Given the description of an element on the screen output the (x, y) to click on. 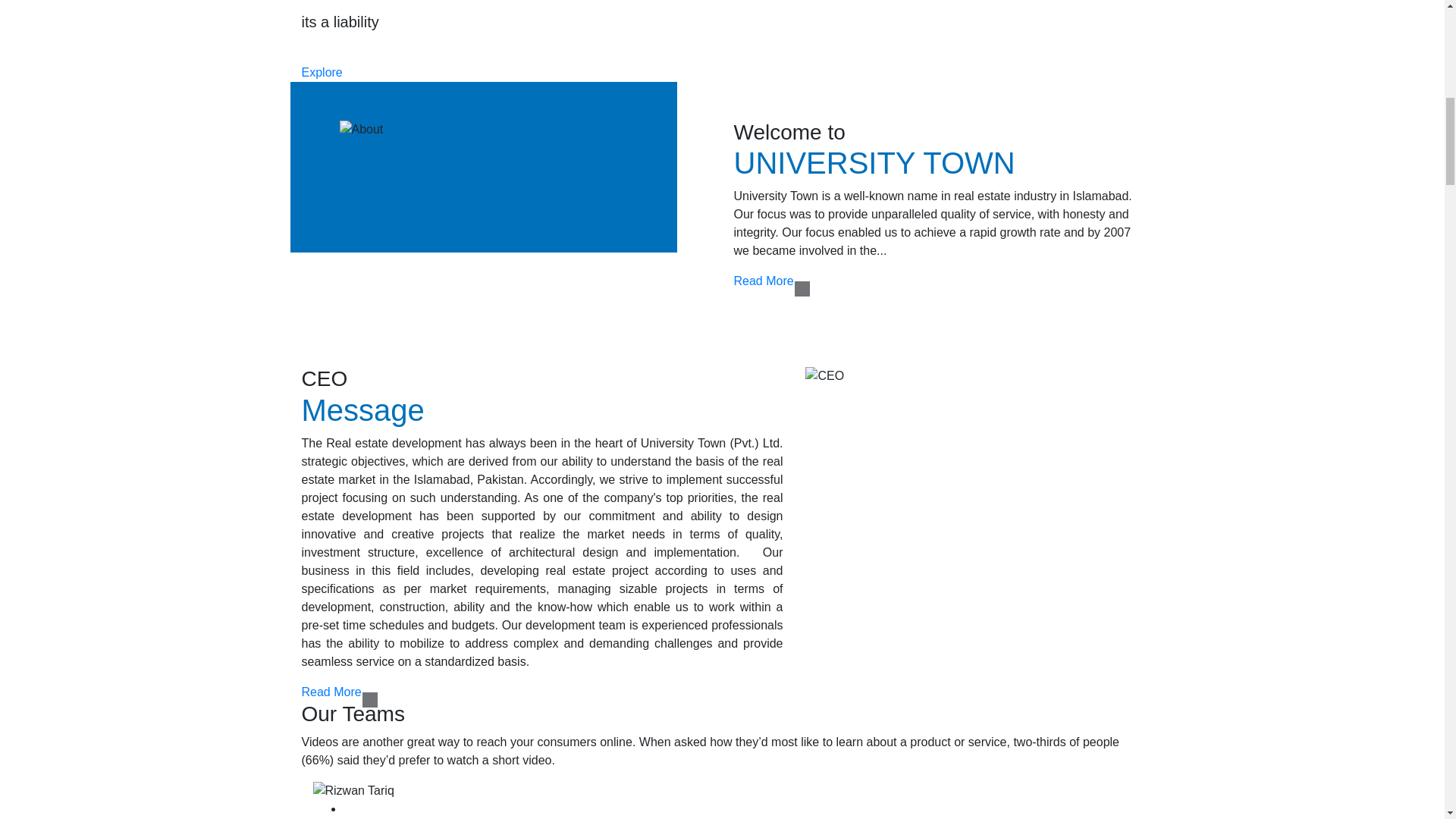
Read More (763, 280)
Read More (331, 691)
Explore (321, 72)
